Given the description of an element on the screen output the (x, y) to click on. 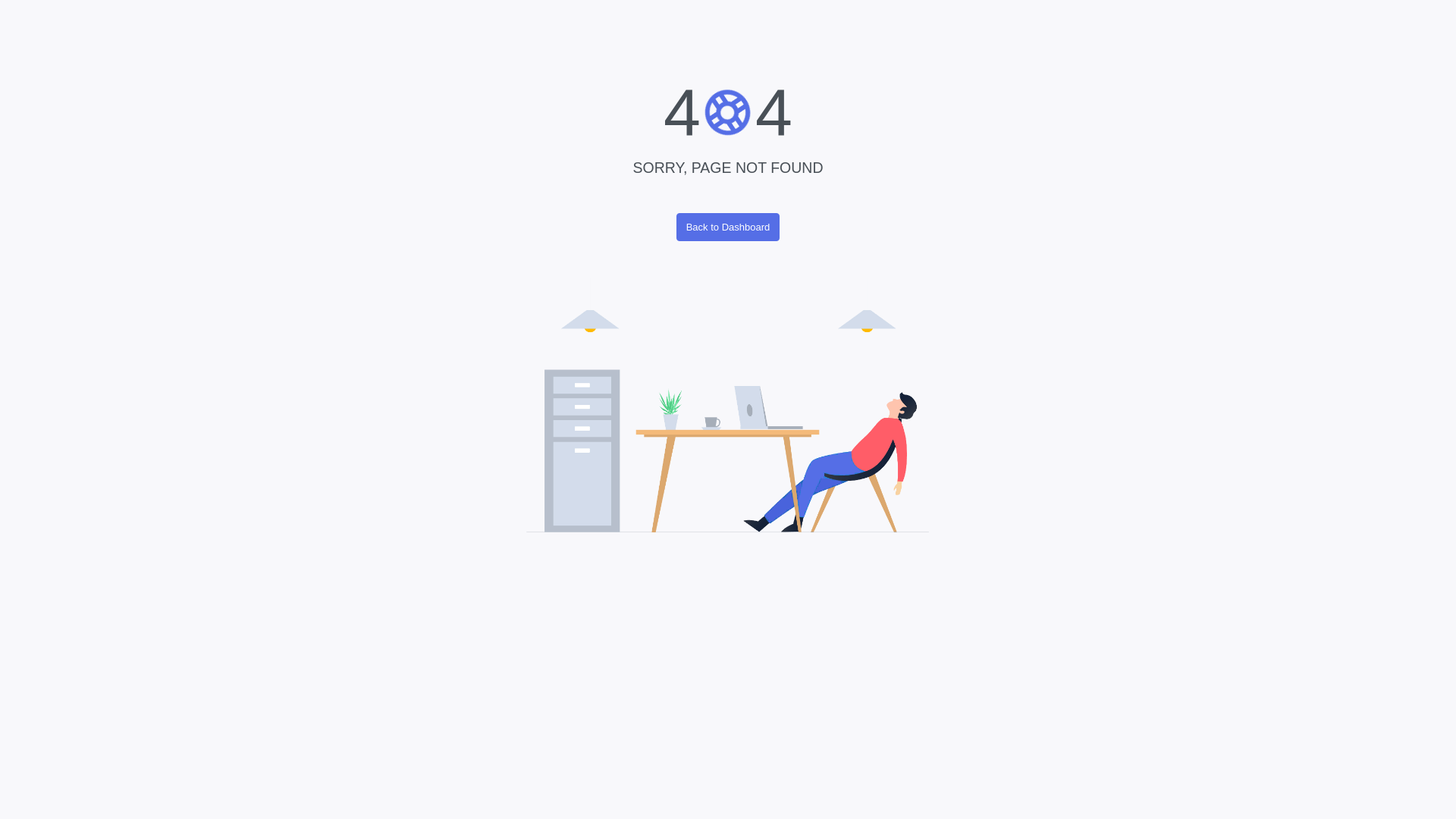
Back to Dashboard Element type: text (728, 227)
